Given the description of an element on the screen output the (x, y) to click on. 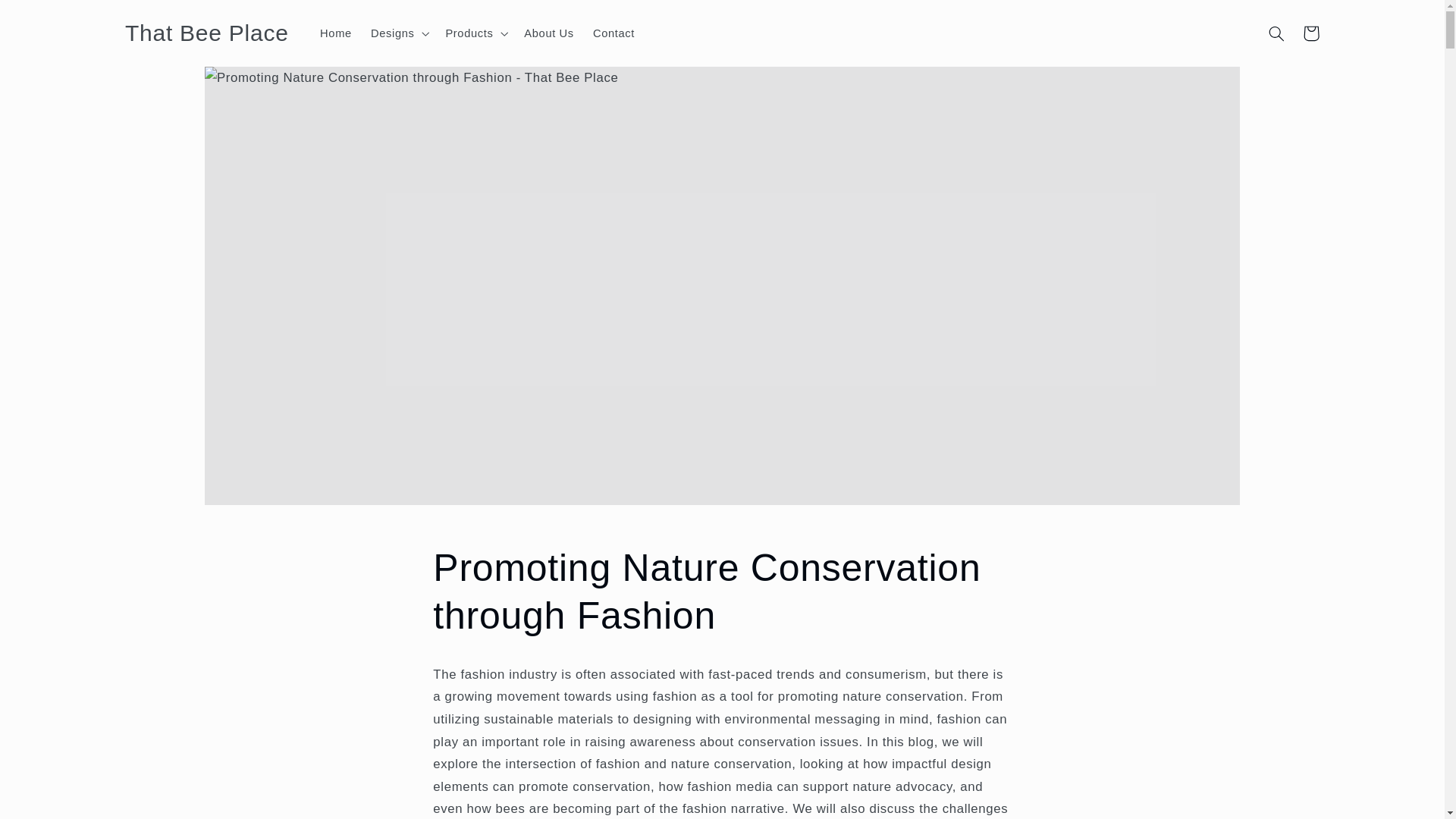
Contact (613, 32)
Cart (1310, 32)
Skip to content (48, 18)
Home (336, 32)
That Bee Place (206, 32)
About Us (549, 32)
